Given the description of an element on the screen output the (x, y) to click on. 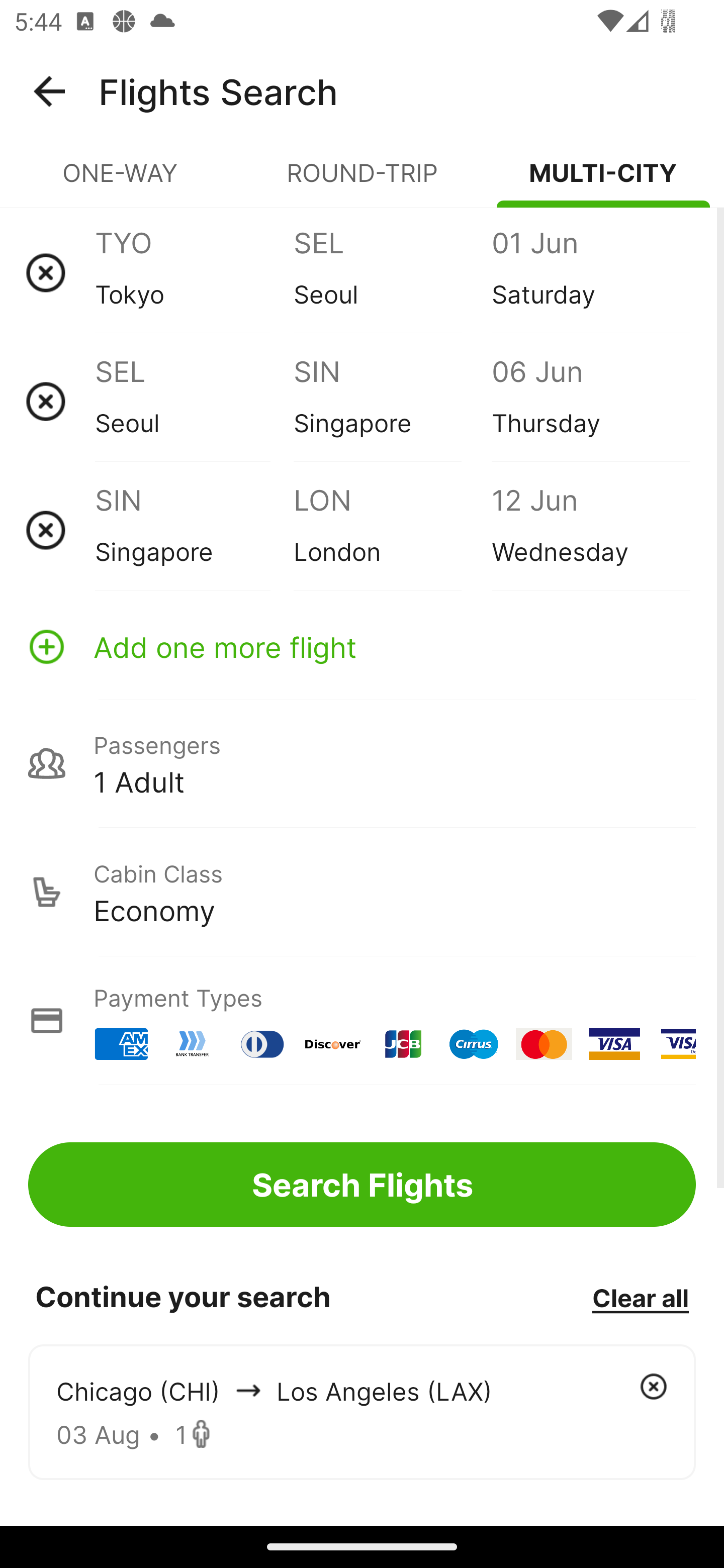
ONE-WAY (120, 180)
ROUND-TRIP (361, 180)
MULTI-CITY (603, 180)
TYO Tokyo (193, 272)
SEL Seoul (392, 272)
01 Jun Saturday (590, 272)
SEL Seoul (193, 401)
SIN Singapore (392, 401)
06 Jun Thursday (590, 401)
SIN Singapore (193, 529)
LON London (392, 529)
12 Jun Wednesday (590, 529)
Add one more flight (362, 646)
Passengers 1 Adult (362, 762)
Cabin Class Economy (362, 891)
Payment Types (362, 1020)
Search Flights (361, 1184)
Clear all (640, 1297)
